Given the description of an element on the screen output the (x, y) to click on. 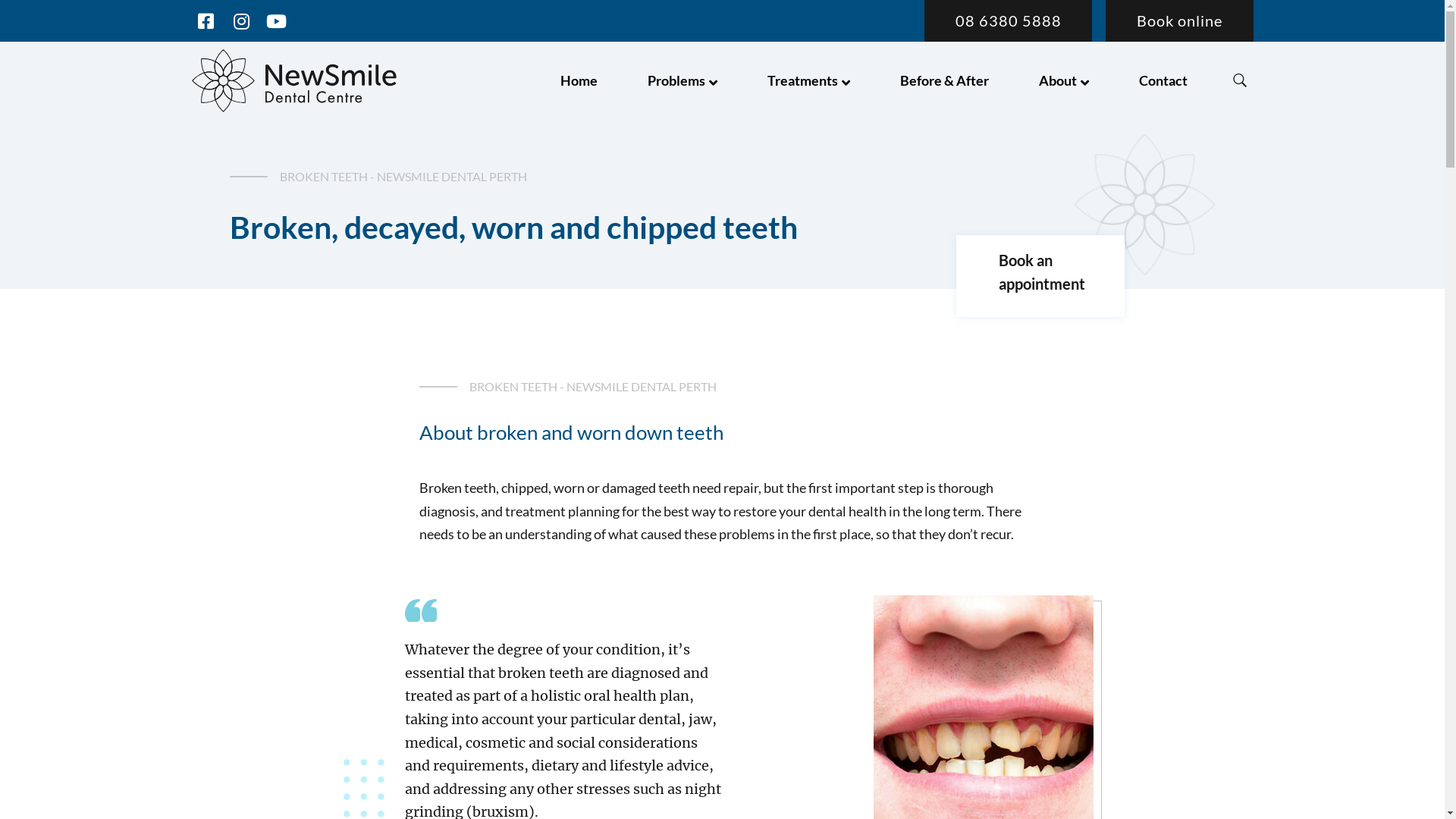
Before & After Element type: text (944, 80)
Book an appointment Element type: text (1040, 277)
Book online Element type: text (1178, 20)
Problems Element type: text (682, 80)
08 6380 5888 Element type: text (1008, 20)
Treatments Element type: text (808, 80)
Contact Element type: text (1163, 80)
Home Element type: text (578, 80)
About Element type: text (1063, 80)
